Given the description of an element on the screen output the (x, y) to click on. 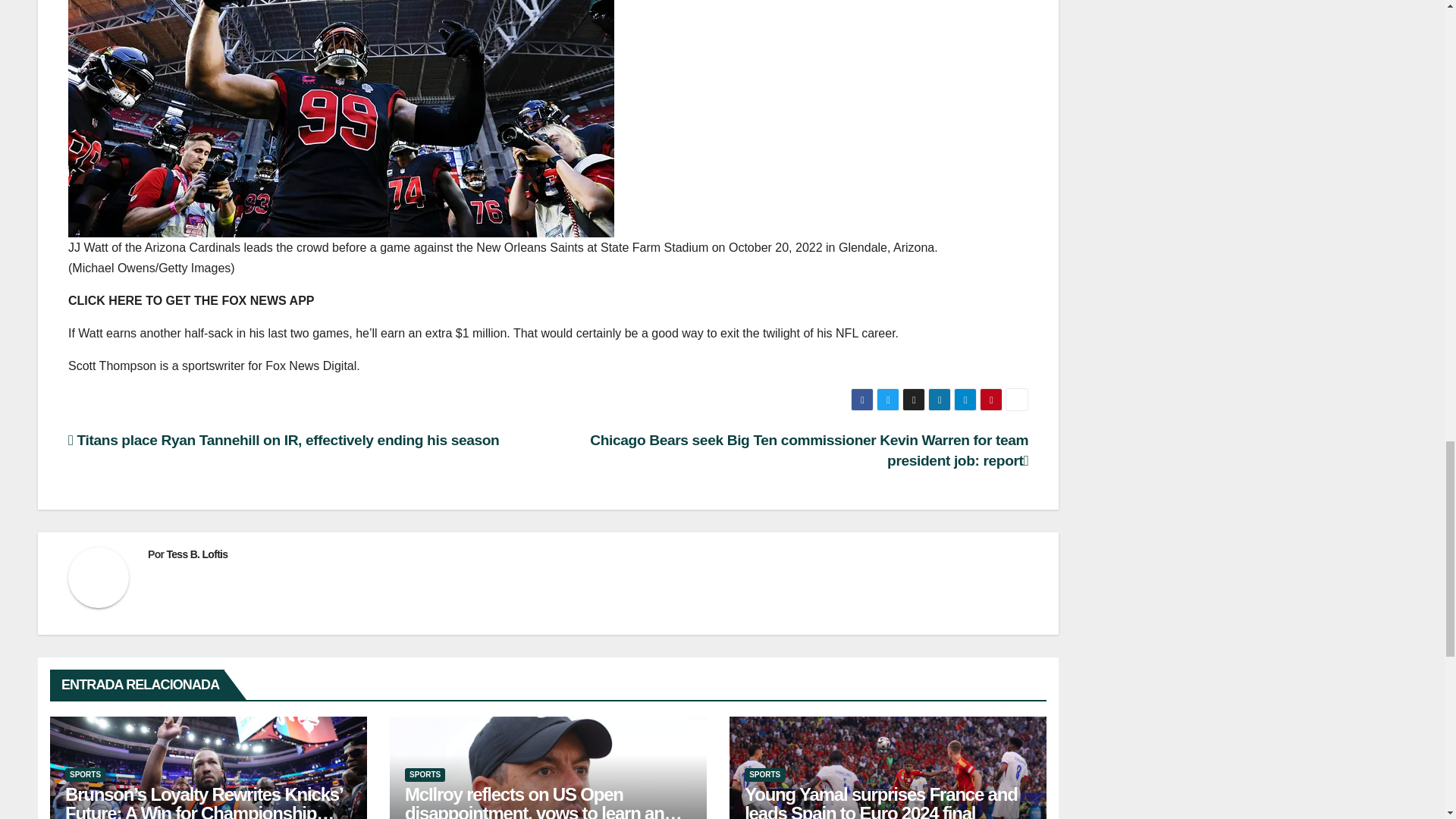
Tess B. Loftis (196, 553)
SPORTS (764, 775)
SPORTS (84, 775)
SPORTS (424, 775)
